Given the description of an element on the screen output the (x, y) to click on. 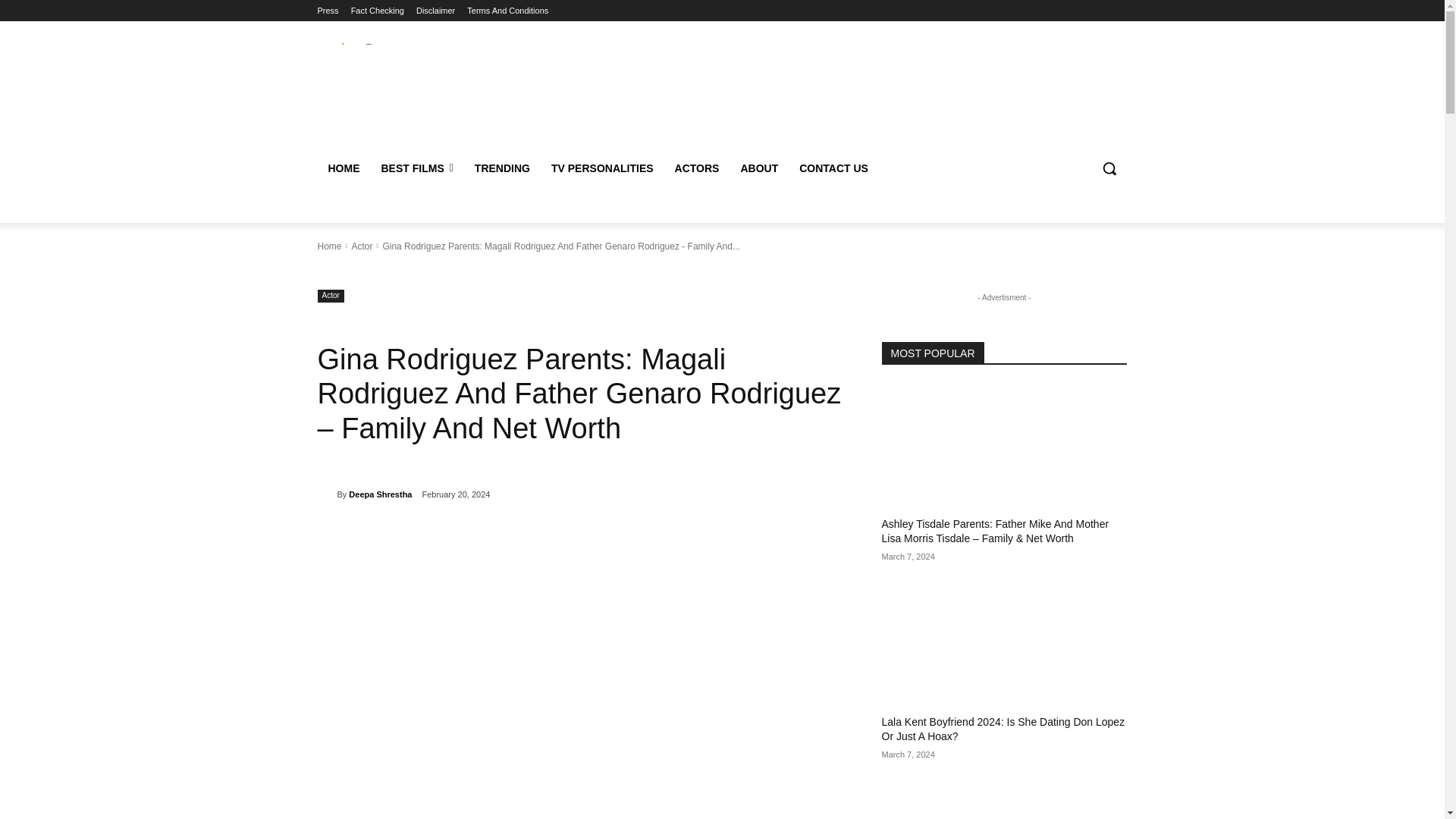
Home (328, 245)
Press (327, 10)
TRENDING (502, 167)
ABOUT (759, 167)
Deepa Shrestha (380, 494)
Deepa Shrestha (326, 494)
Actor (330, 295)
BEST FILMS (416, 167)
Terms And Conditions (507, 10)
View all posts in Actor (361, 245)
TV PERSONALITIES (601, 167)
ACTORS (696, 167)
Fact Checking (377, 10)
HOME (343, 167)
Disclaimer (435, 10)
